Given the description of an element on the screen output the (x, y) to click on. 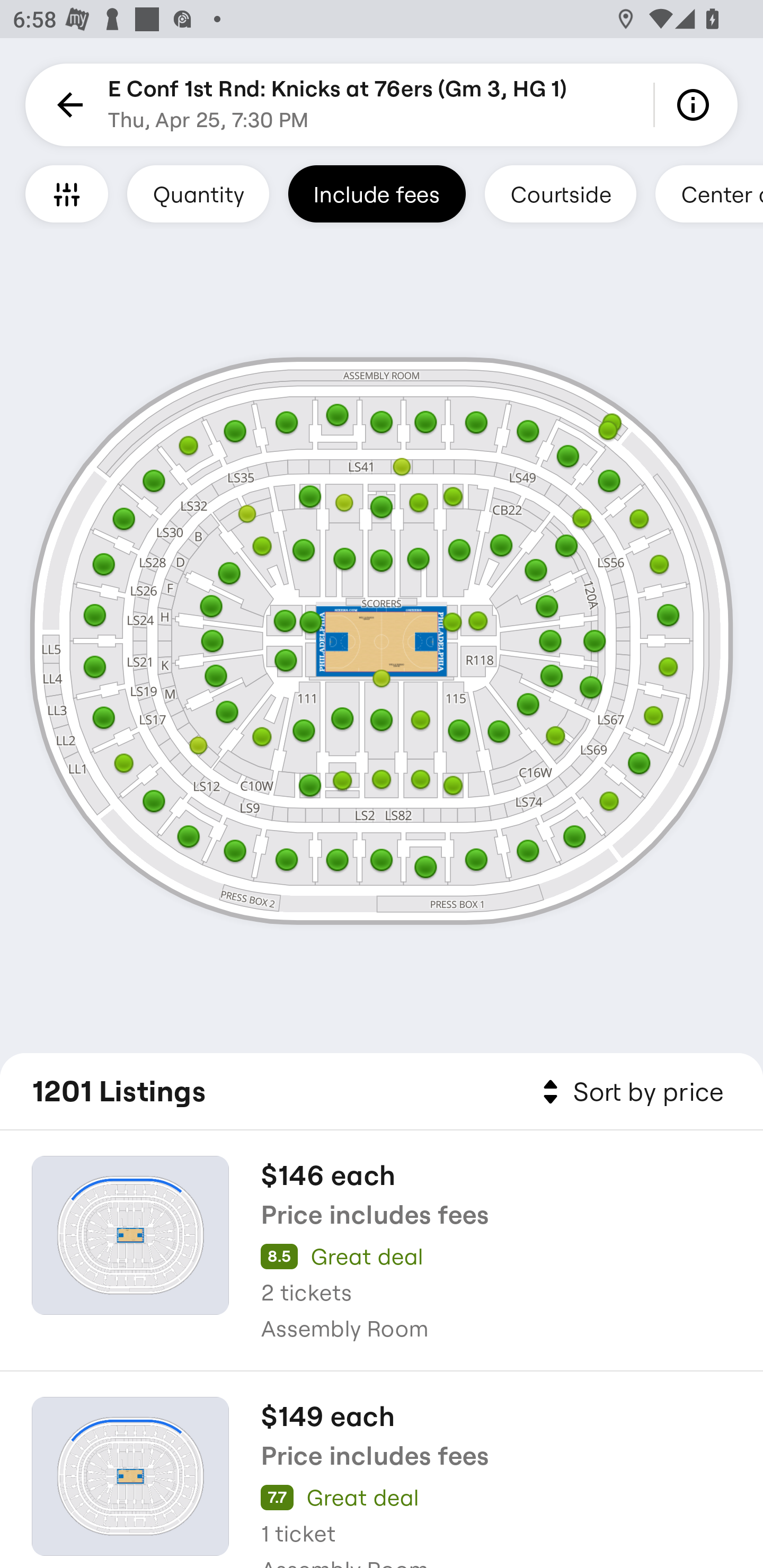
Back (66, 104)
Info (695, 104)
Filters and Accessible Seating (66, 193)
Quantity (198, 193)
Include fees (376, 193)
Courtside (560, 193)
Center court (709, 193)
Sort by price (629, 1091)
